Given the description of an element on the screen output the (x, y) to click on. 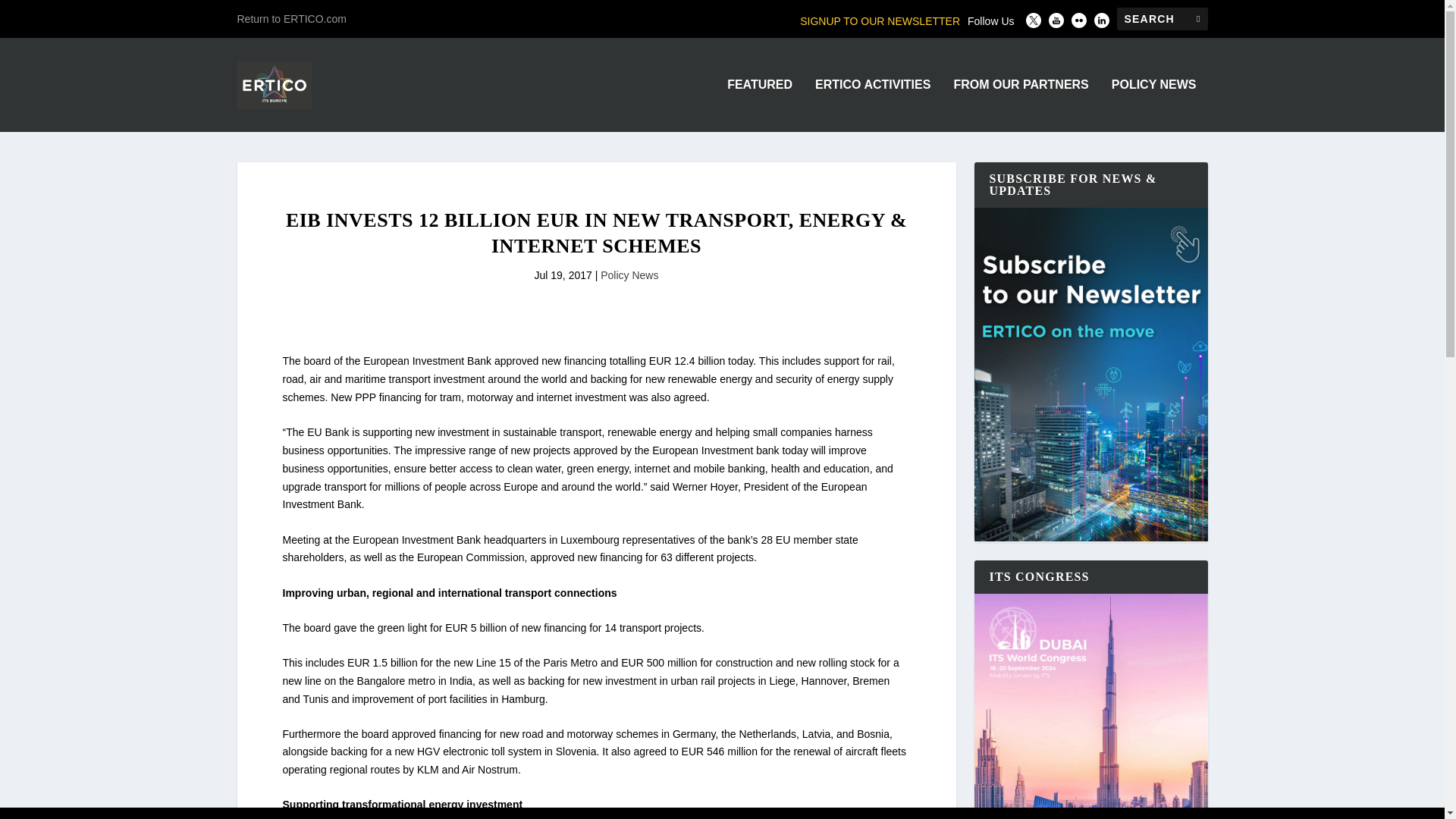
FROM OUR PARTNERS (1020, 104)
ERTICO ACTIVITIES (872, 104)
Policy News (628, 275)
SIGNUP TO OUR NEWSLETTER (879, 21)
Return to ERTICO.com (290, 18)
FEATURED (759, 104)
POLICY NEWS (1154, 104)
Search for: (1161, 18)
